Given the description of an element on the screen output the (x, y) to click on. 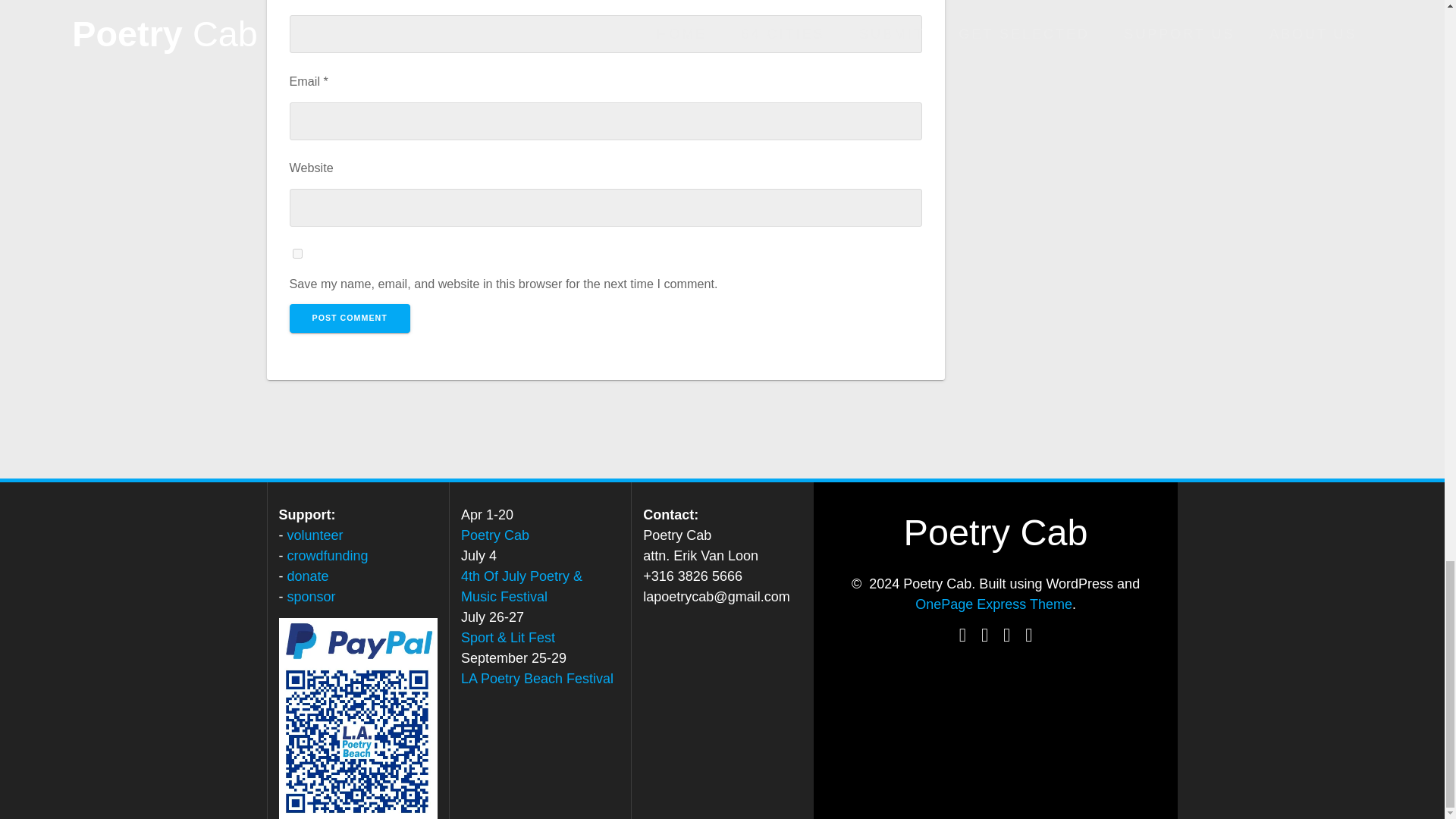
donate (307, 575)
Post Comment (349, 317)
volunteer (314, 534)
yes (297, 253)
crowdfunding (327, 555)
OnePage Express Theme (993, 604)
Poetry Cab (495, 534)
sponsor (311, 596)
LA Poetry Beach Festival (536, 678)
Post Comment (349, 317)
